Given the description of an element on the screen output the (x, y) to click on. 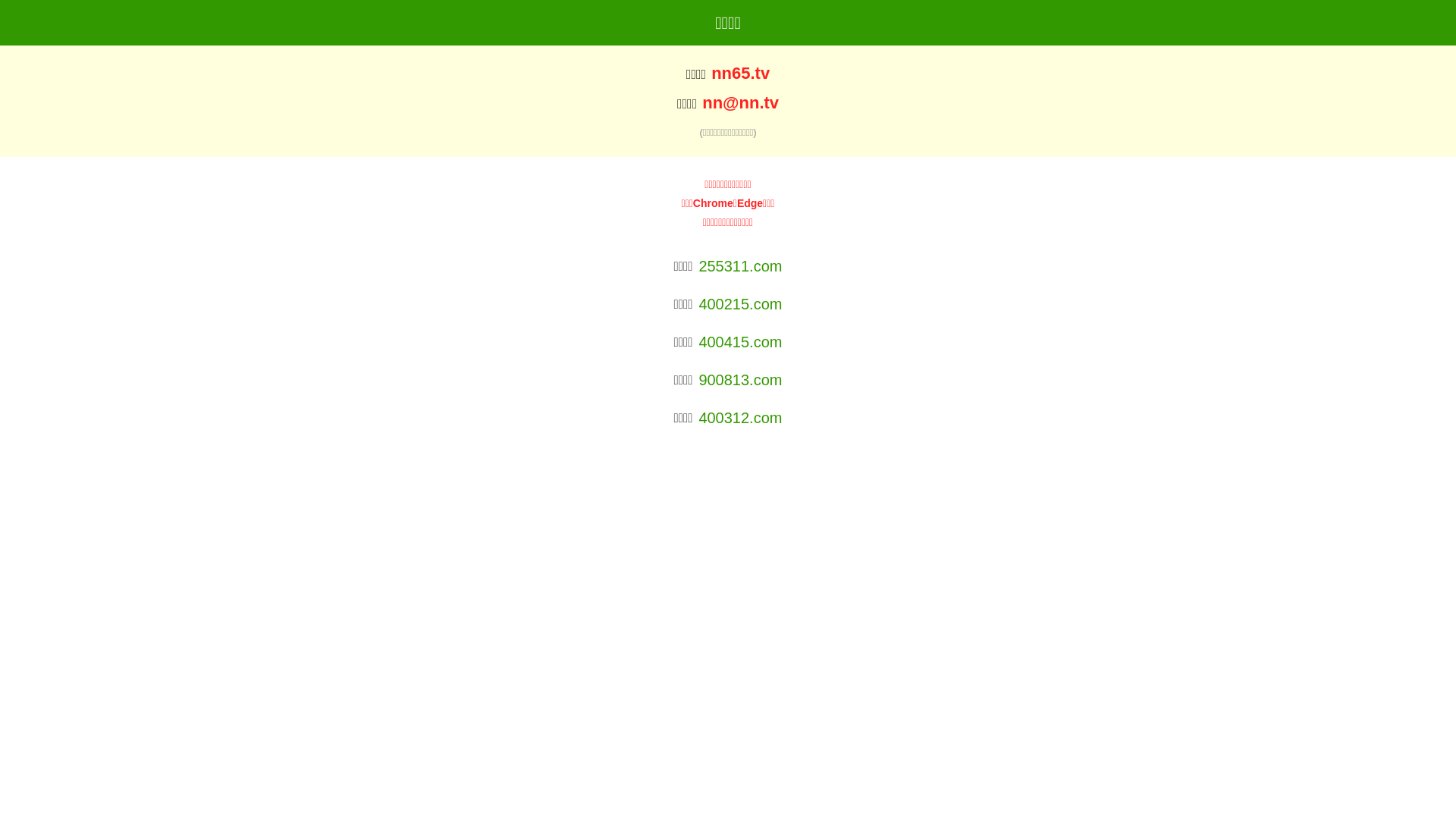
400415.com Element type: text (739, 341)
400215.com Element type: text (739, 303)
255311.com Element type: text (739, 265)
400312.com Element type: text (739, 417)
900813.com Element type: text (739, 379)
